Given the description of an element on the screen output the (x, y) to click on. 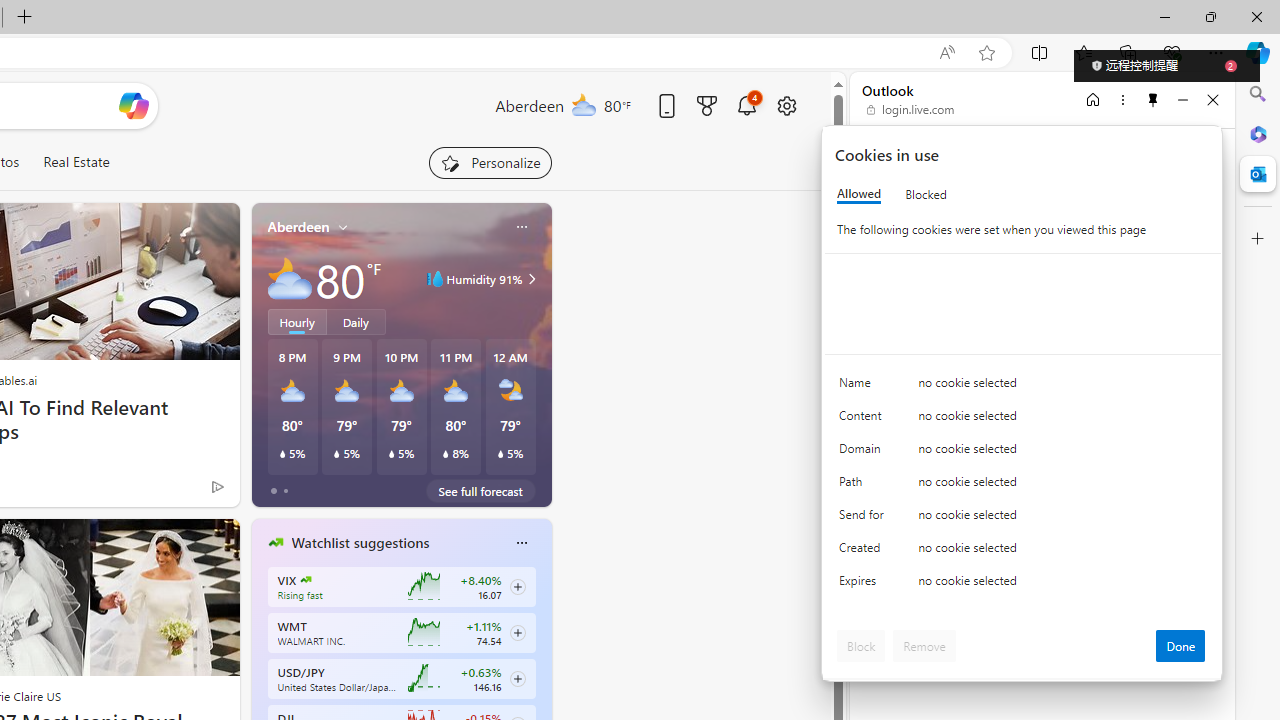
Allowed (859, 193)
Remove (924, 645)
Class: c0153 c0157 c0154 (1023, 386)
Class: c0153 c0157 (1023, 584)
Class: weather-arrow-glyph (531, 278)
Expires (864, 585)
